Given the description of an element on the screen output the (x, y) to click on. 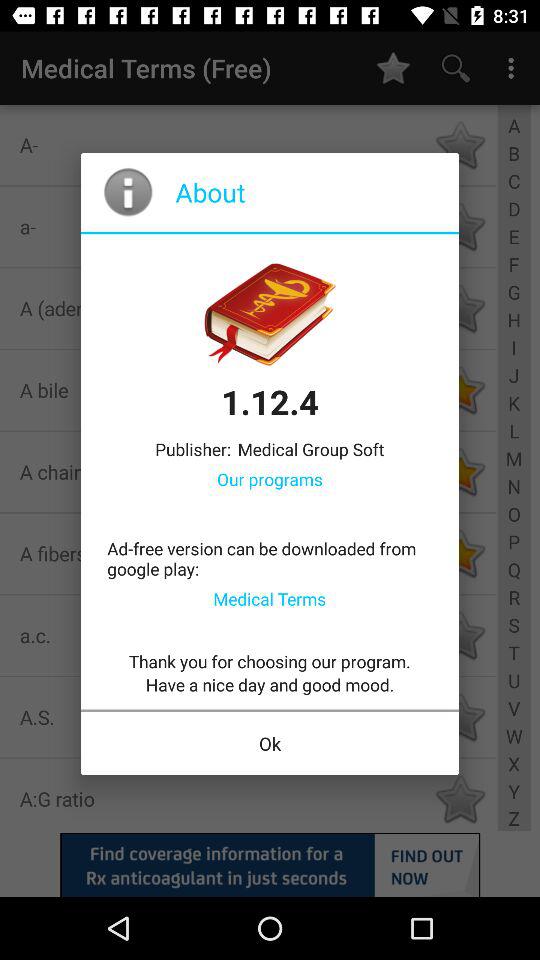
choose icon above the ad free version item (269, 478)
